Given the description of an element on the screen output the (x, y) to click on. 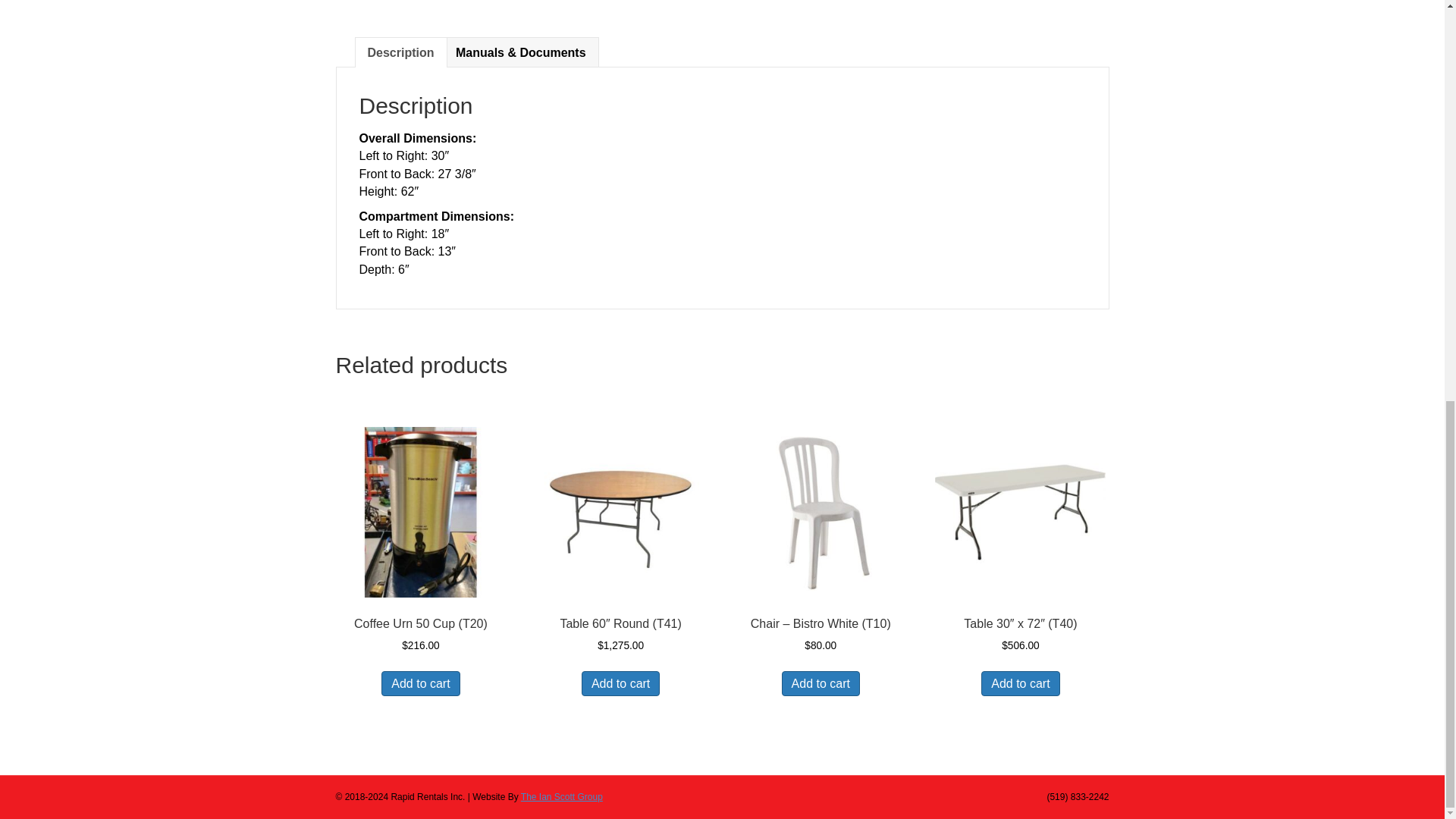
Add to cart (1020, 683)
Description (399, 52)
Add to cart (420, 683)
Add to cart (619, 683)
The Ian Scott Group (561, 796)
Add to cart (820, 683)
